Given the description of an element on the screen output the (x, y) to click on. 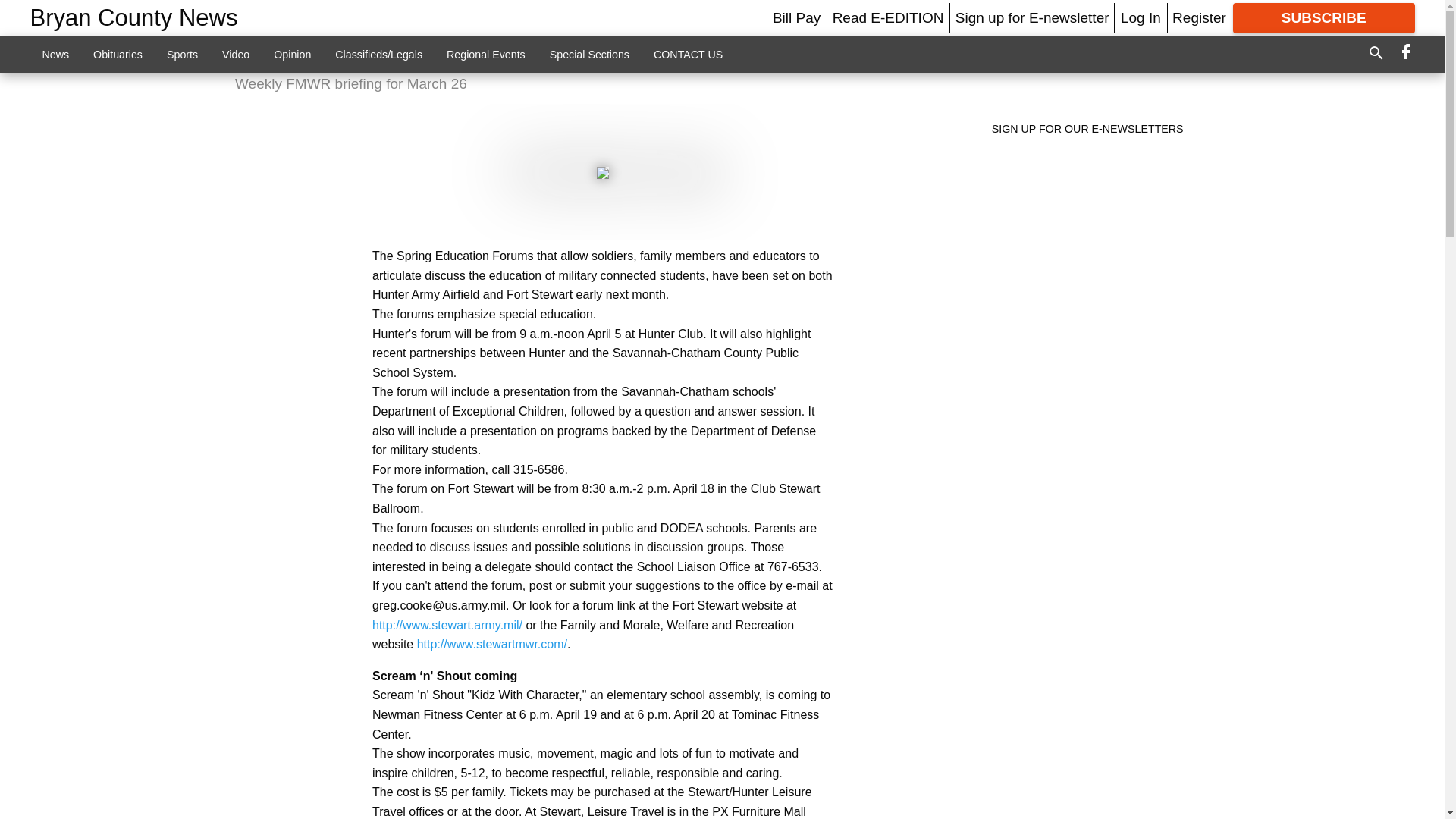
Obituaries (117, 54)
Sports (181, 54)
Bill Pay (797, 17)
News (55, 54)
Regional Events (485, 54)
Bryan County News (134, 17)
SUBSCRIBE (1324, 18)
Opinion (292, 54)
Register (1198, 17)
Read E-EDITION (887, 17)
Video (235, 54)
Sign up for E-newsletter (1032, 17)
Log In (1140, 17)
